Given the description of an element on the screen output the (x, y) to click on. 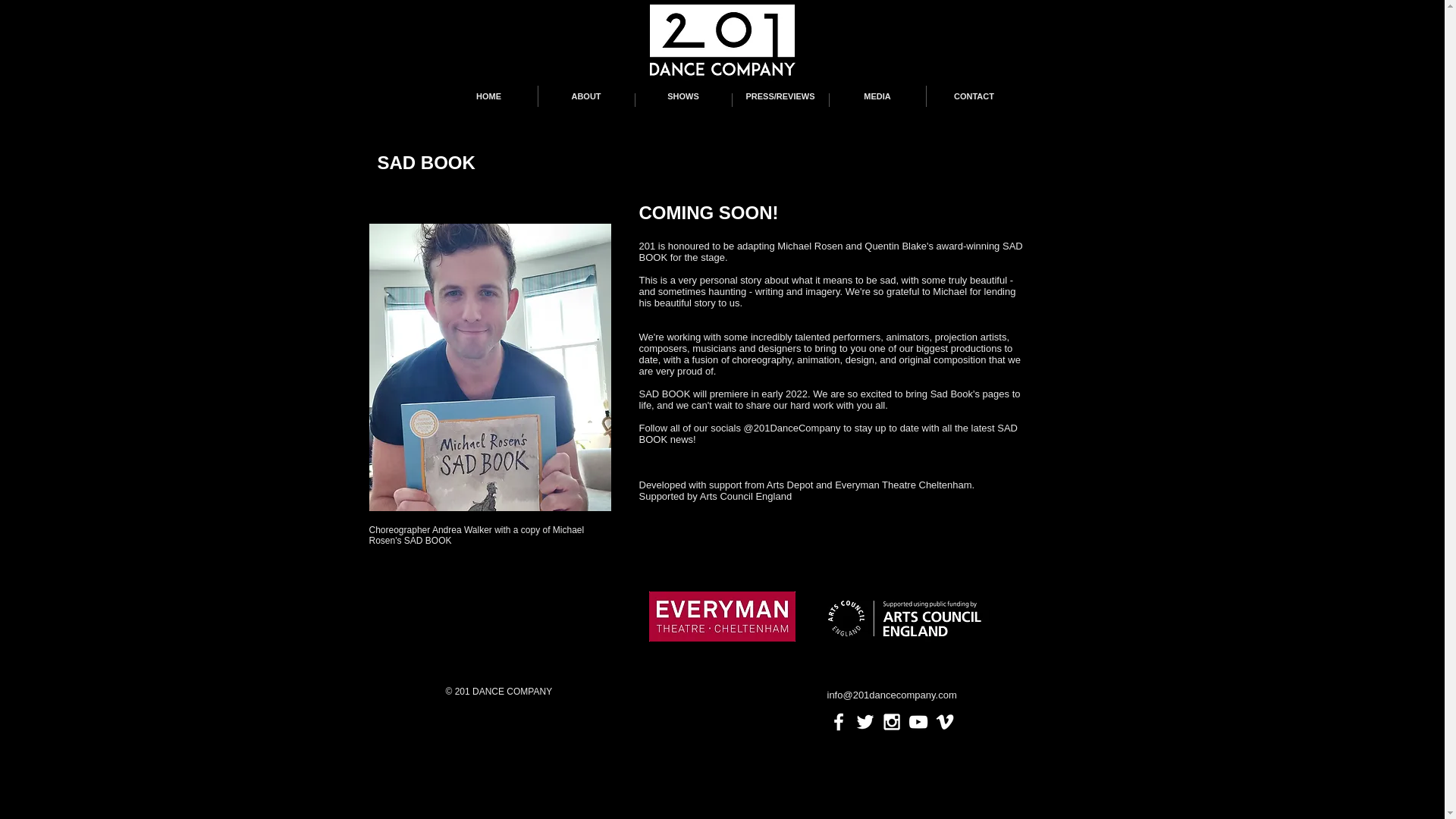
HOME Element type: text (487, 95)
Final_201DanceCompany_2.jpg Element type: hover (721, 50)
info@201dancecompany.com Element type: text (891, 694)
CONTACT Element type: text (974, 95)
